Given the description of an element on the screen output the (x, y) to click on. 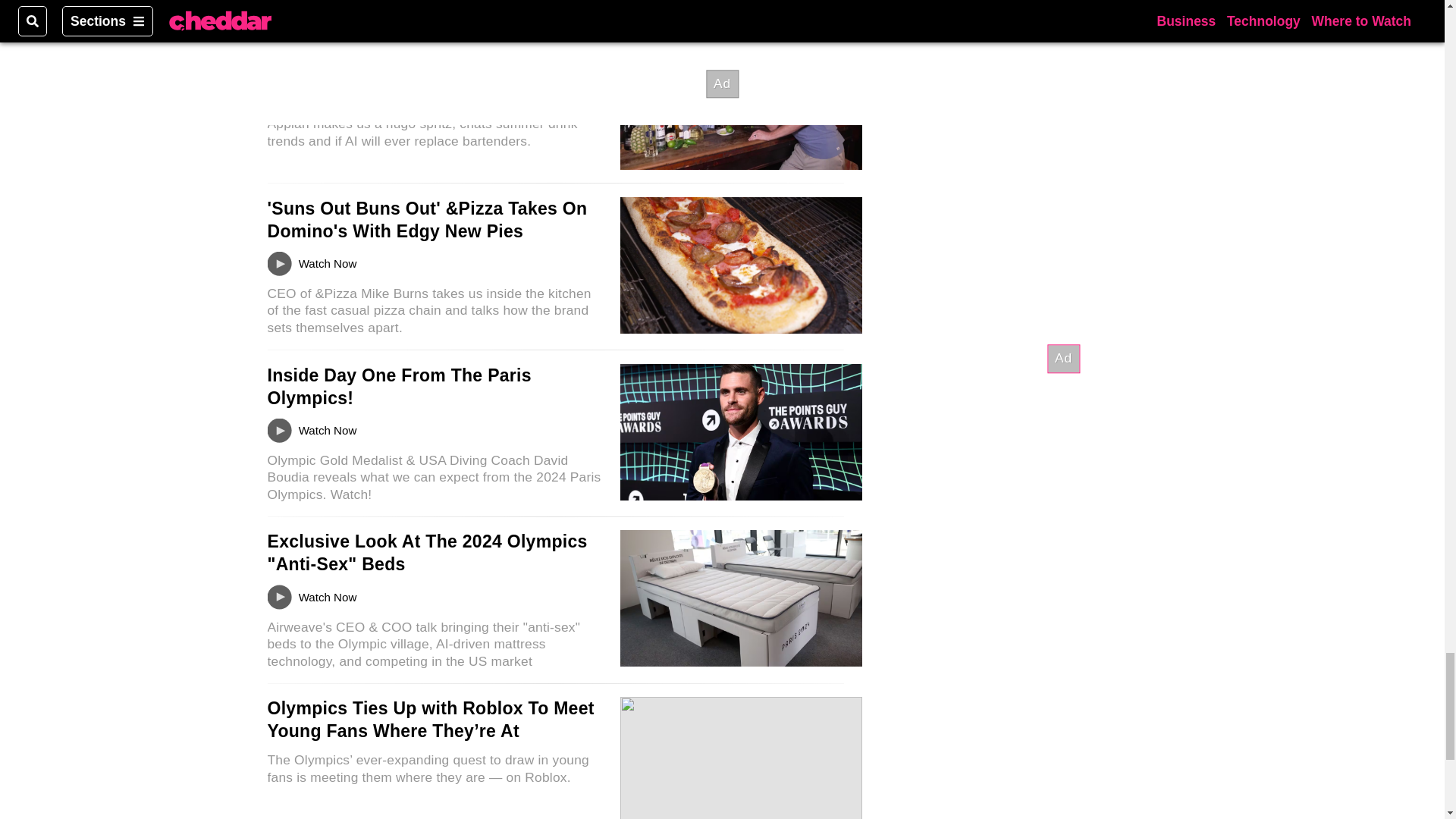
Are We Done With The Aperol Spritz? (425, 44)
Exclusive Look At The 2024 Olympics "Anti-Sex" Beds (426, 552)
Inside Day One From The Paris Olympics! (398, 386)
